Given the description of an element on the screen output the (x, y) to click on. 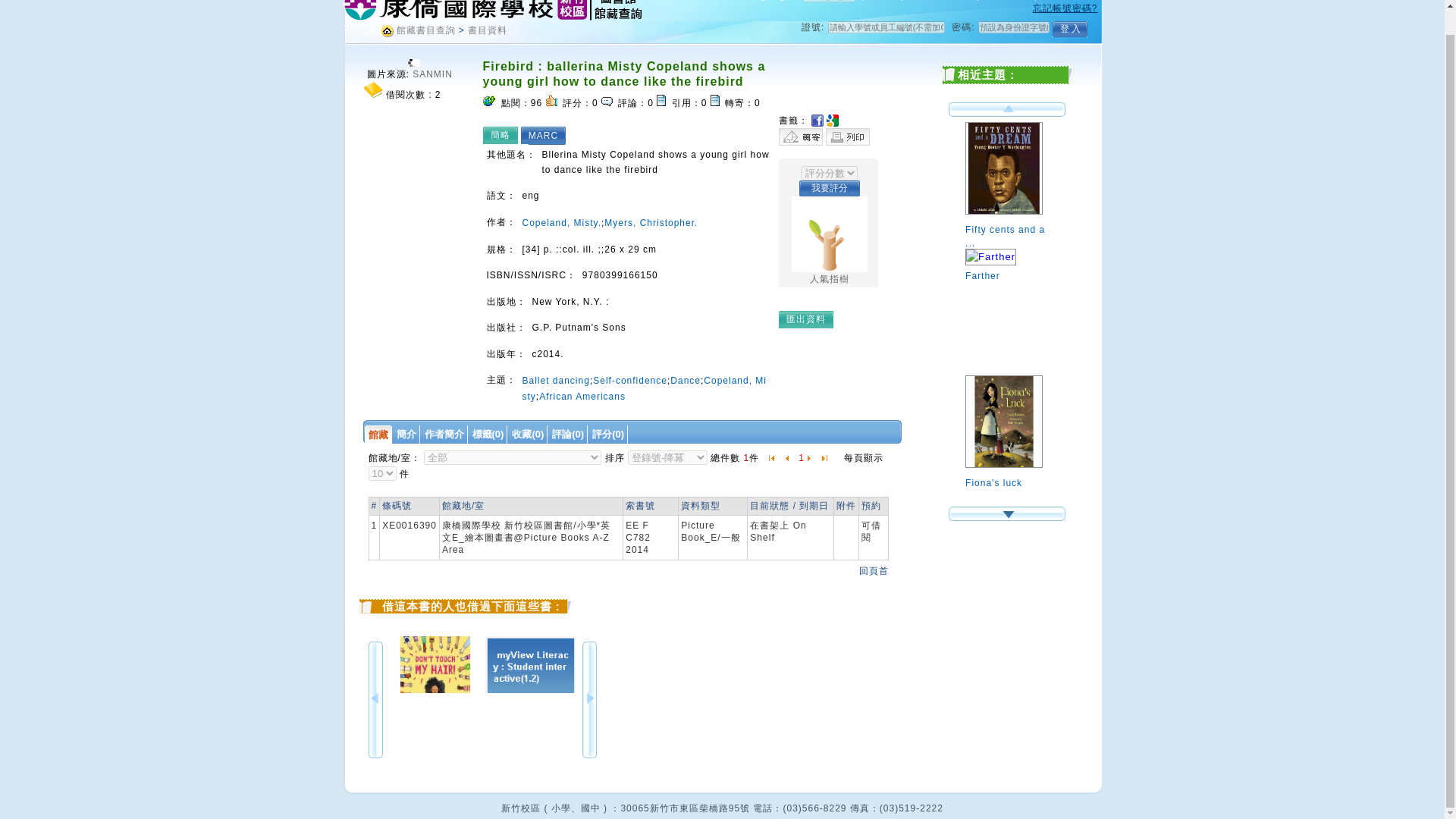
Ballet dancing (555, 380)
Dance (684, 380)
Copeland, Misty. (560, 222)
MARC (547, 135)
::: (347, 26)
African Americans (582, 396)
Copeland, Misty (644, 388)
Farther (1011, 266)
Fiona's luck (1011, 473)
Self-confidence (629, 380)
SANMIN (432, 73)
MARC (547, 135)
SANMIN (432, 73)
Myers, Christopher. (650, 222)
1 (801, 457)
